Given the description of an element on the screen output the (x, y) to click on. 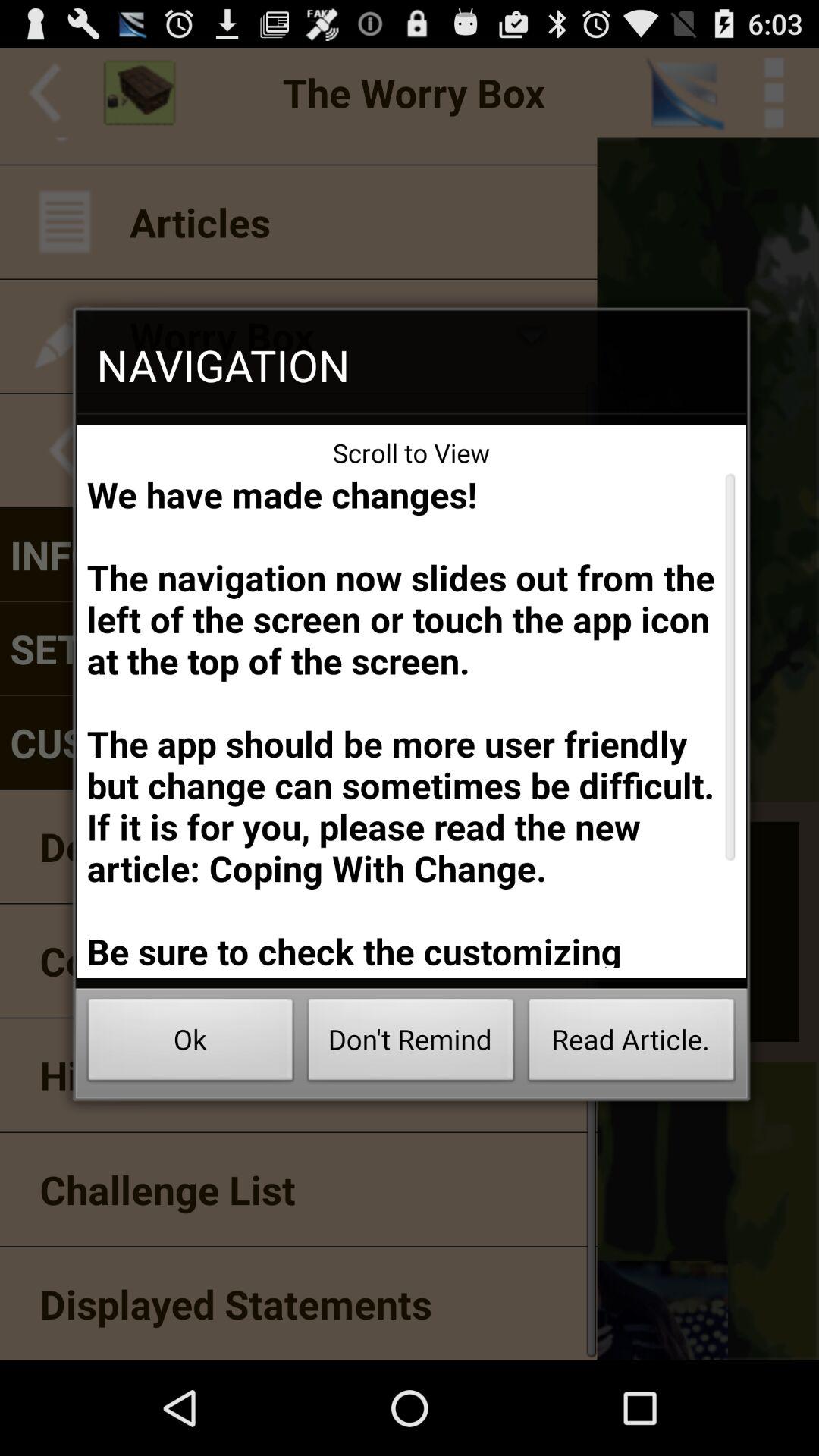
press the item to the left of read article. item (410, 1044)
